Given the description of an element on the screen output the (x, y) to click on. 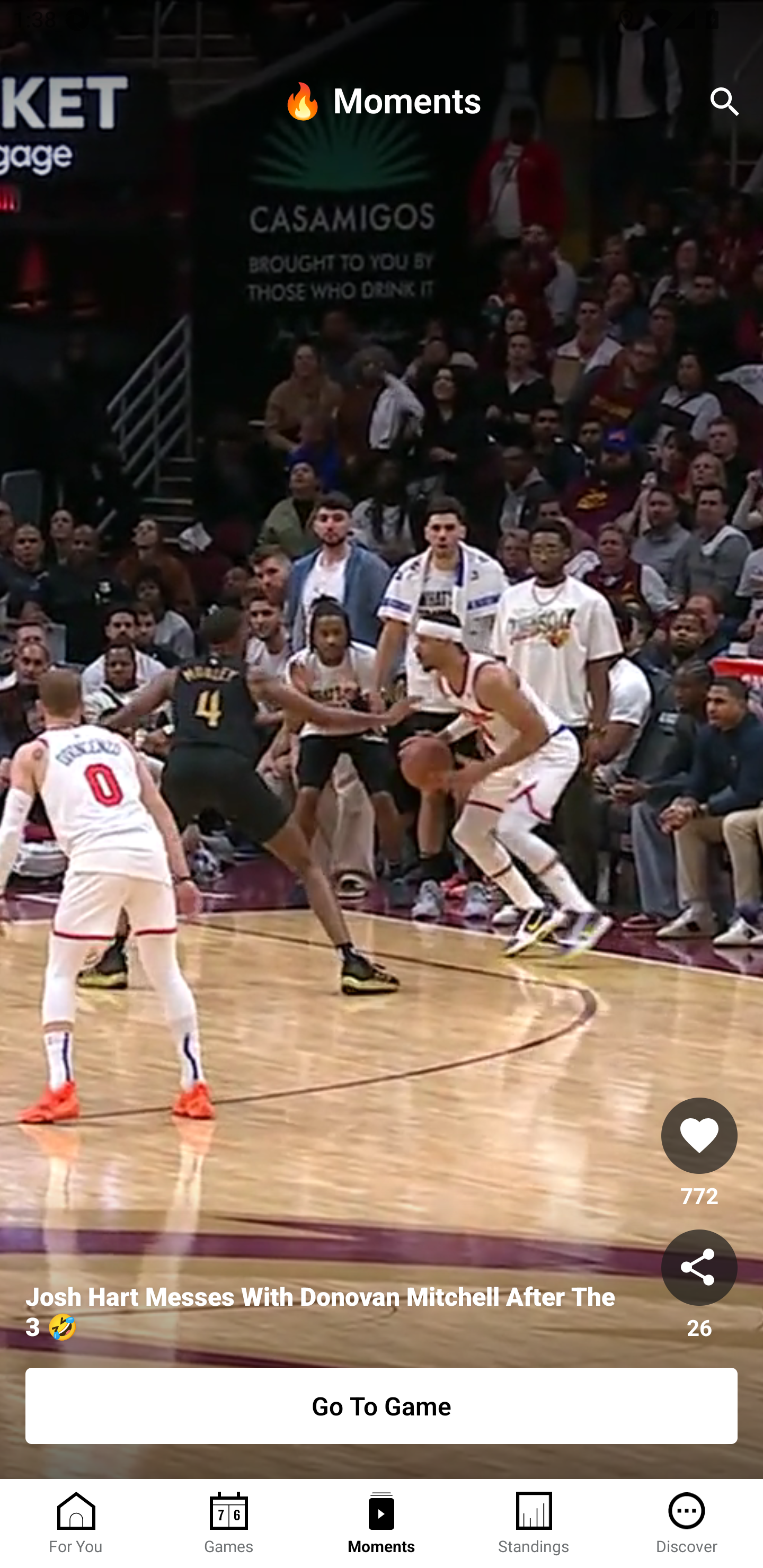
search (724, 101)
like 772 772 Likes (699, 1153)
share 26 26 Shares (699, 1285)
Go To Game (381, 1405)
For You (76, 1523)
Games (228, 1523)
Standings (533, 1523)
Discover (686, 1523)
